Given the description of an element on the screen output the (x, y) to click on. 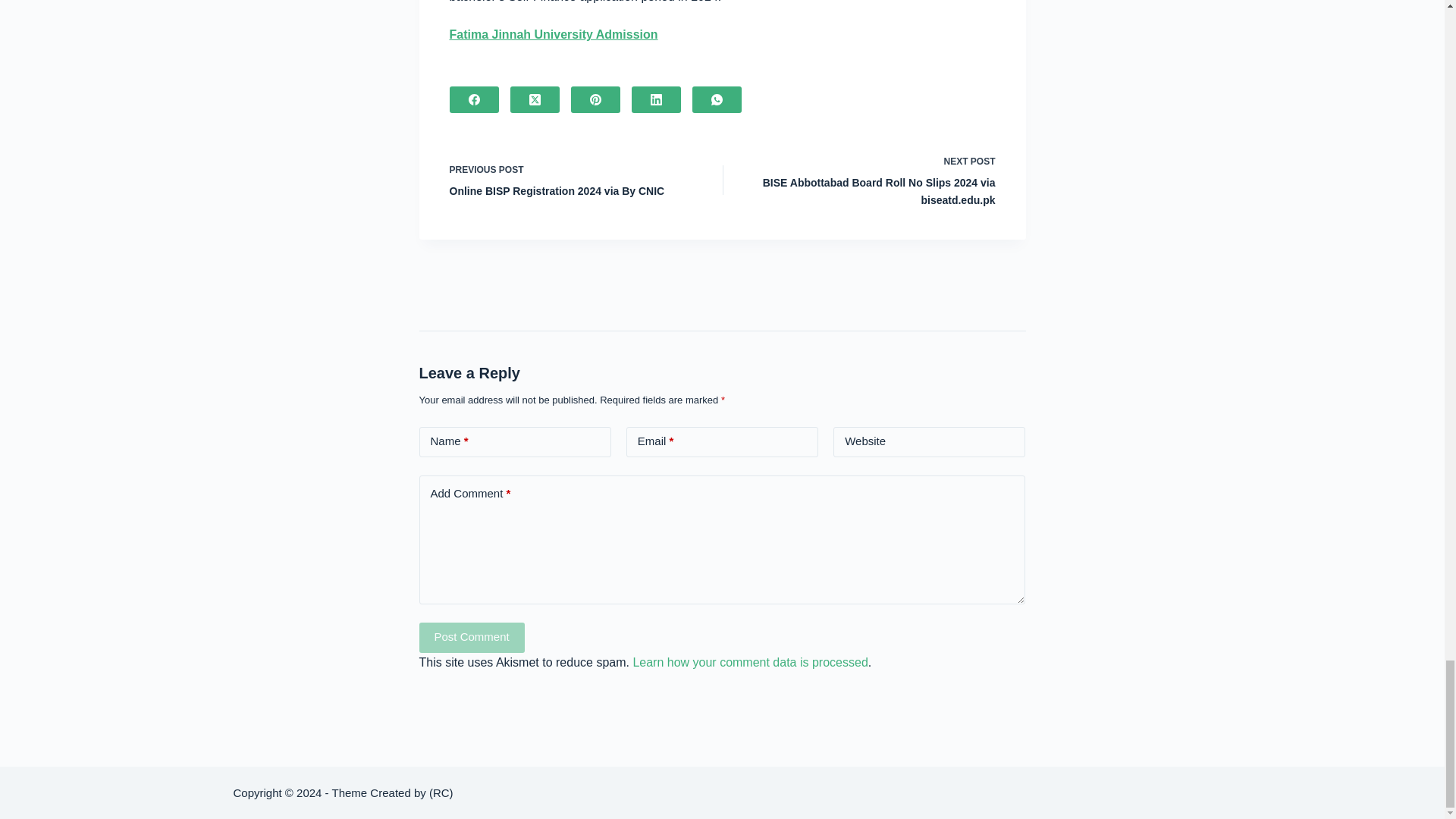
Post Comment (471, 637)
Learn how your comment data is processed (749, 662)
Fatima Jinnah University Admission (553, 33)
